Given the description of an element on the screen output the (x, y) to click on. 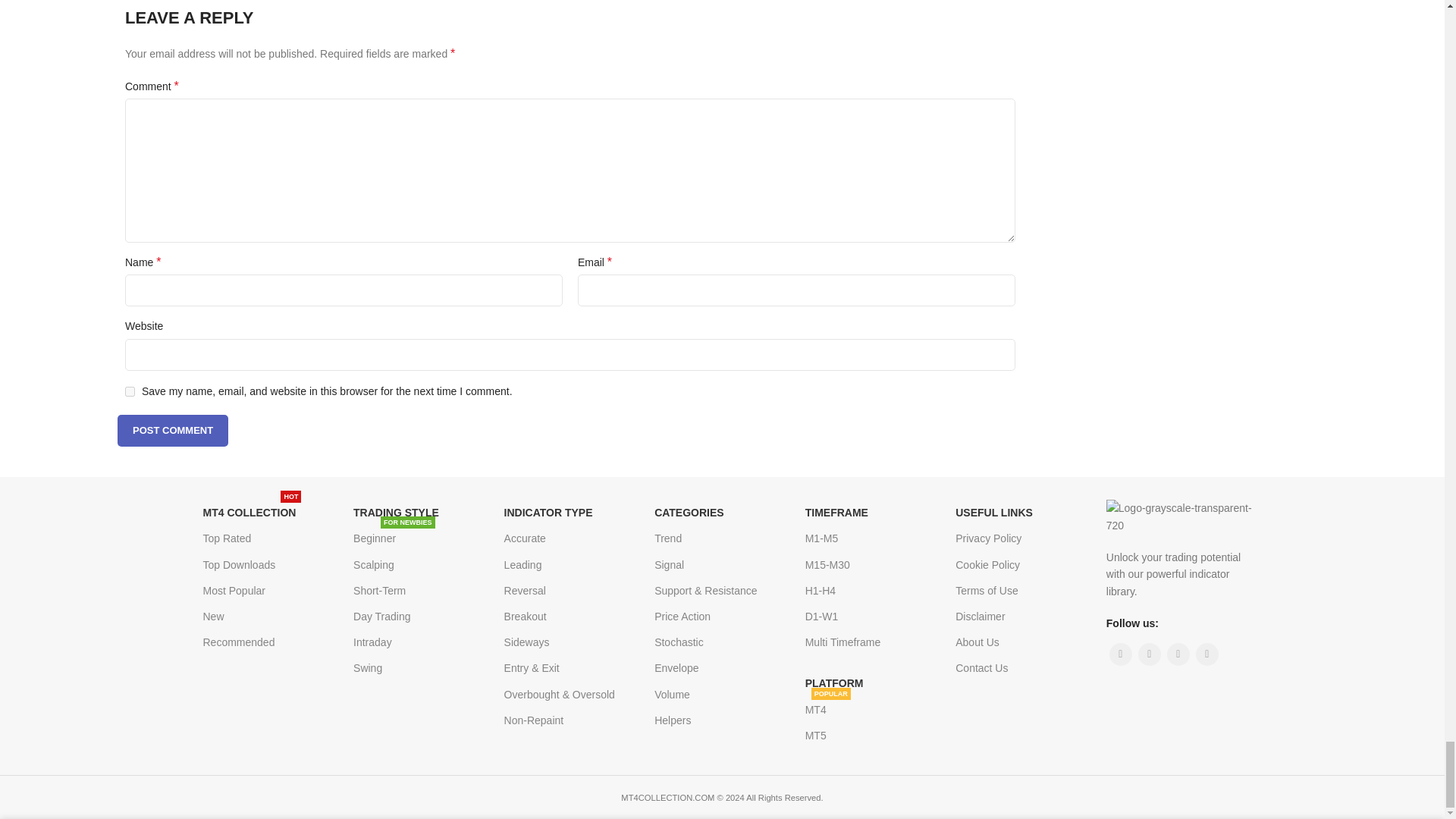
Logo-grayscale-transparent-720 (1181, 516)
yes (130, 391)
Post Comment (172, 430)
